Given the description of an element on the screen output the (x, y) to click on. 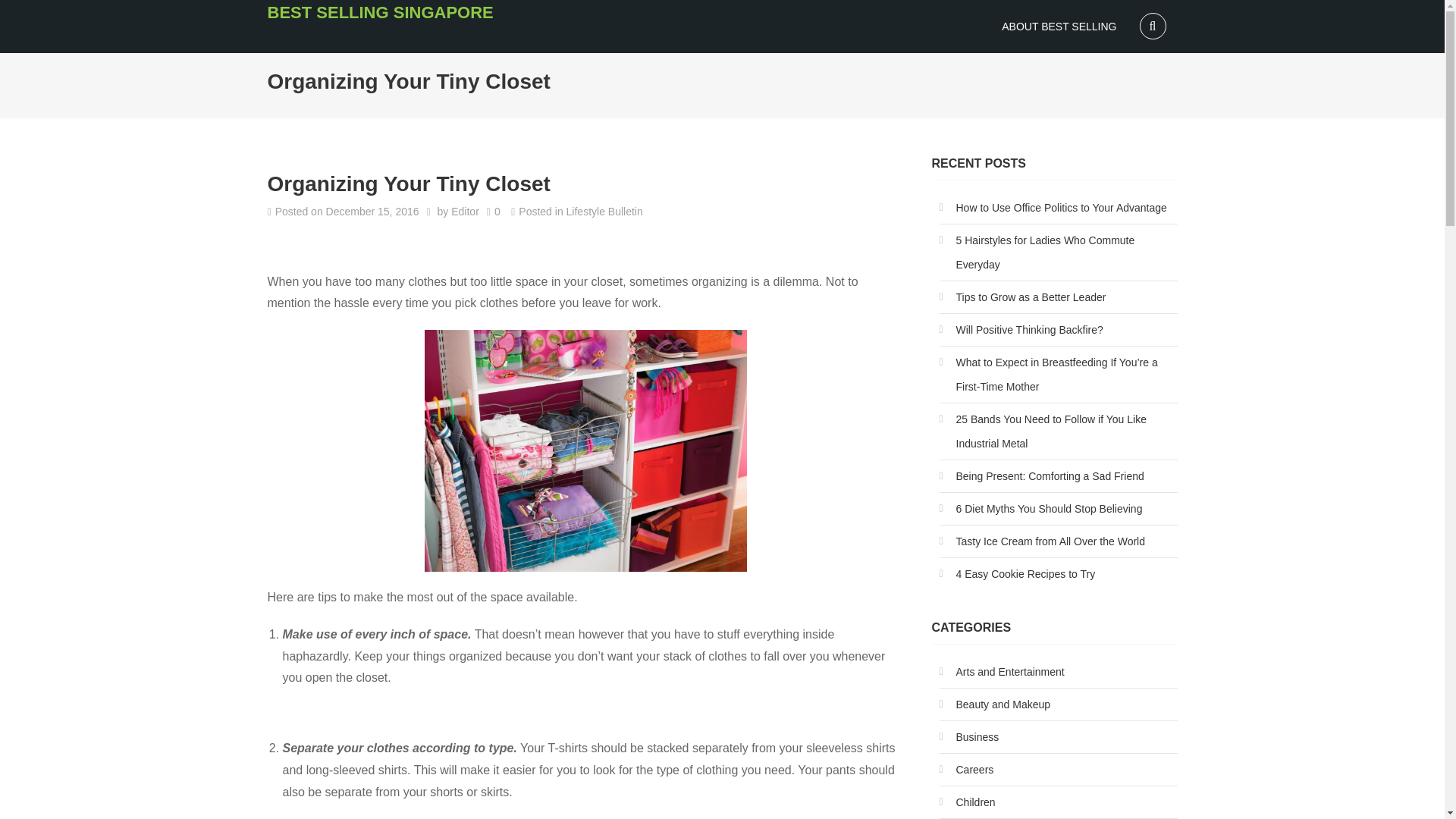
Tasty Ice Cream from All Over the World (1041, 541)
Careers (965, 769)
Arts and Entertainment (1001, 671)
5 Hairstyles for Ladies Who Commute Everyday (1057, 252)
Lifestyle Bulletin (604, 211)
ABOUT BEST SELLING (1059, 26)
25 Bands You Need to Follow if You Like Industrial Metal (1057, 431)
How to Use Office Politics to Your Advantage (1052, 207)
Beauty and Makeup (994, 704)
Children (966, 802)
4 Easy Cookie Recipes to Try (1016, 573)
Search (29, 12)
December 15, 2016 (372, 211)
Being Present: Comforting a Sad Friend (1040, 476)
Tips to Grow as a Better Leader (1022, 297)
